Given the description of an element on the screen output the (x, y) to click on. 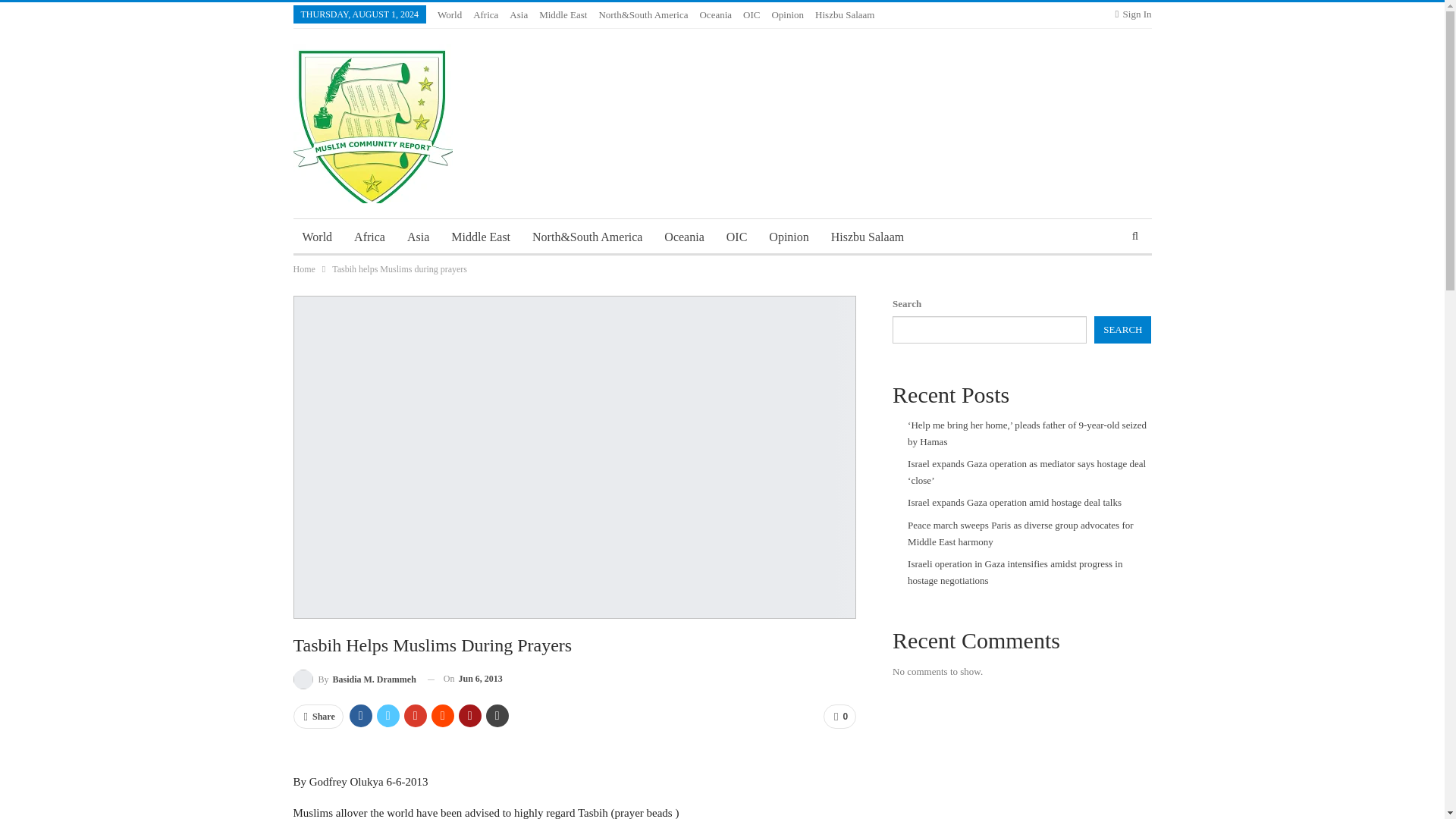
World (449, 14)
Hiszbu Salaam (867, 237)
Oceania (715, 14)
0 (840, 716)
Oceania (684, 237)
Middle East (562, 14)
Hiszbu Salaam (845, 14)
Sign In (1133, 13)
By Basidia M. Drammeh (353, 679)
Middle East (480, 237)
